Given the description of an element on the screen output the (x, y) to click on. 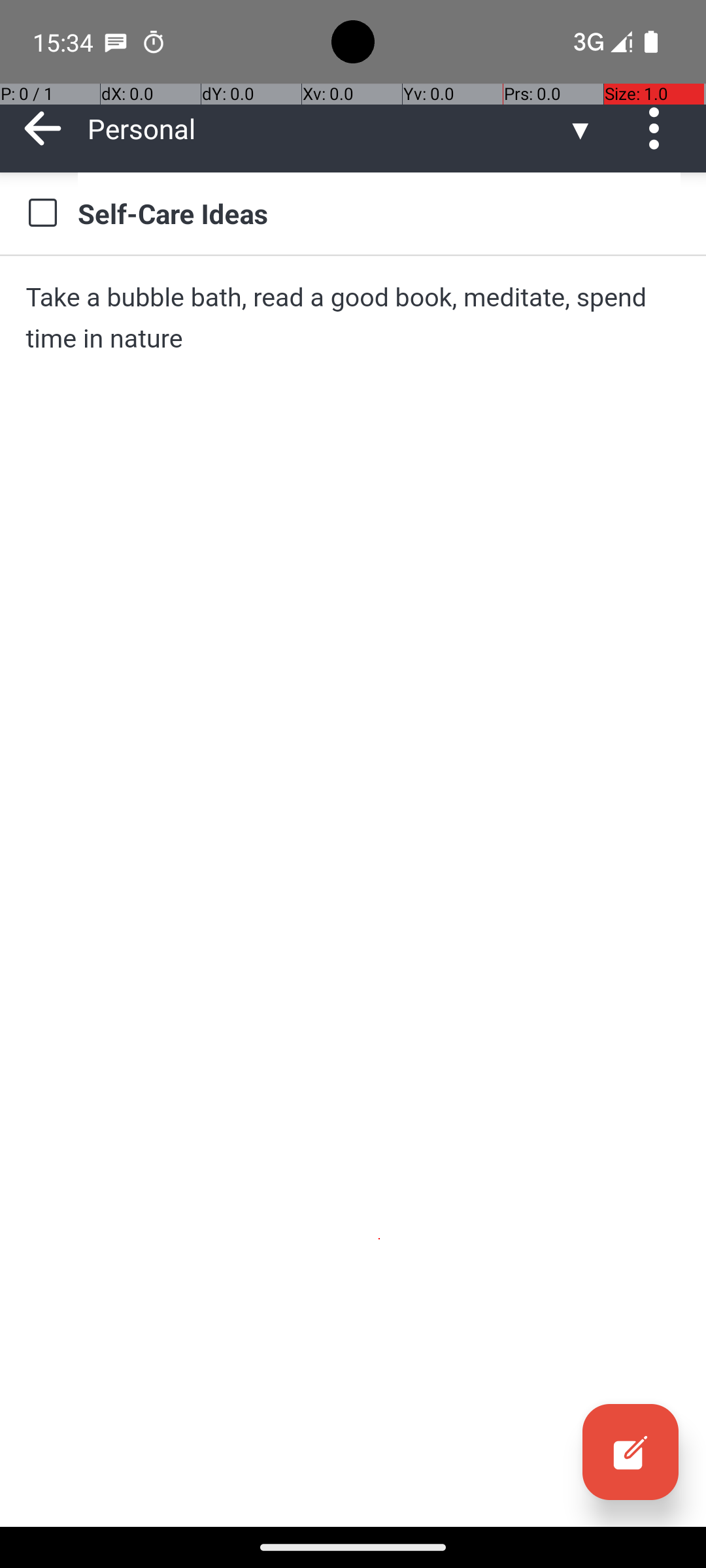
Self-Care Ideas Element type: android.widget.EditText (378, 213)
Take a bubble bath, read a good book, meditate, spend time in nature Element type: android.widget.TextView (352, 317)
